Given the description of an element on the screen output the (x, y) to click on. 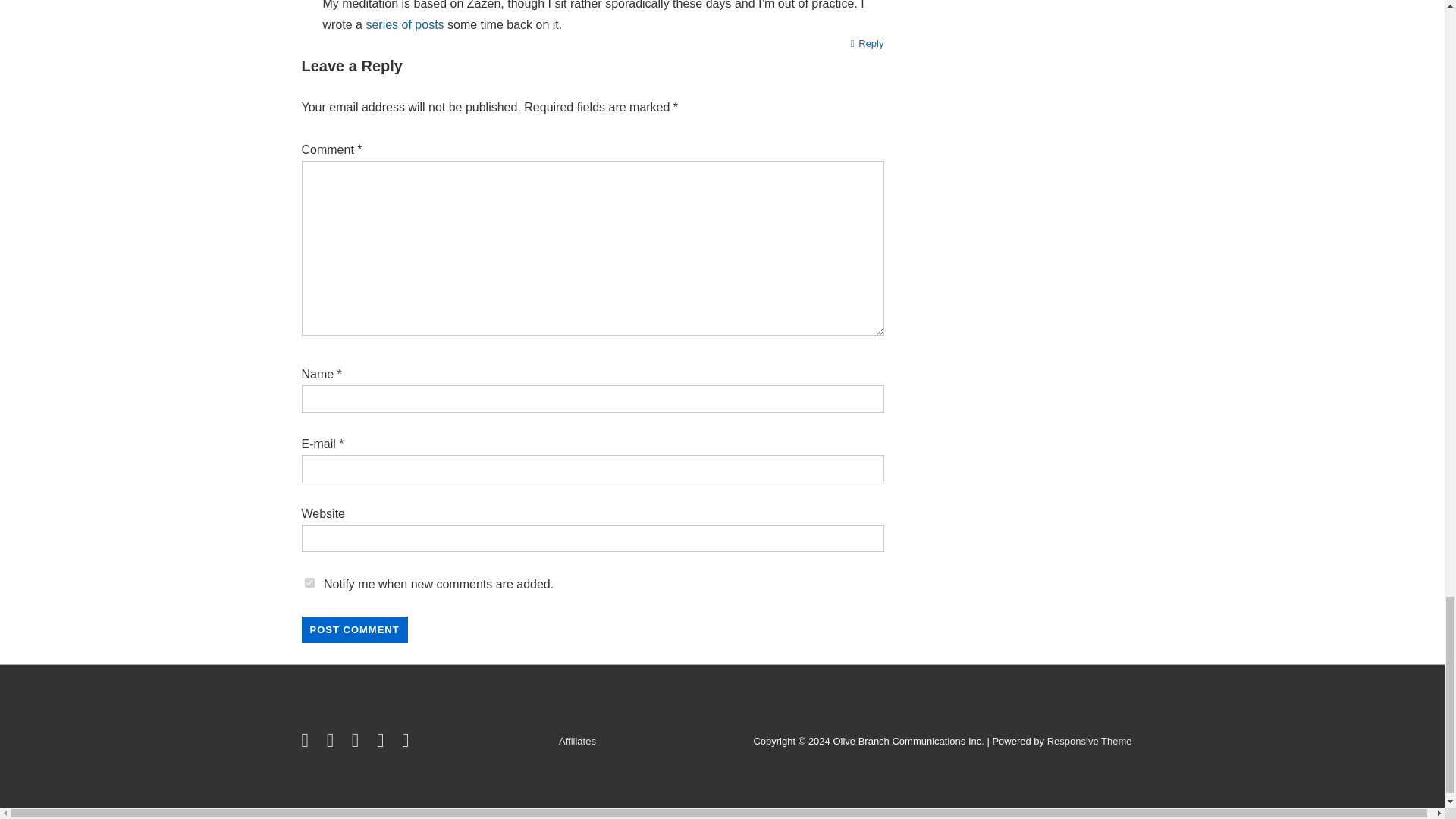
facebook (333, 743)
youtube (358, 743)
twitter (308, 743)
1 (309, 583)
Post Comment (354, 629)
